Given the description of an element on the screen output the (x, y) to click on. 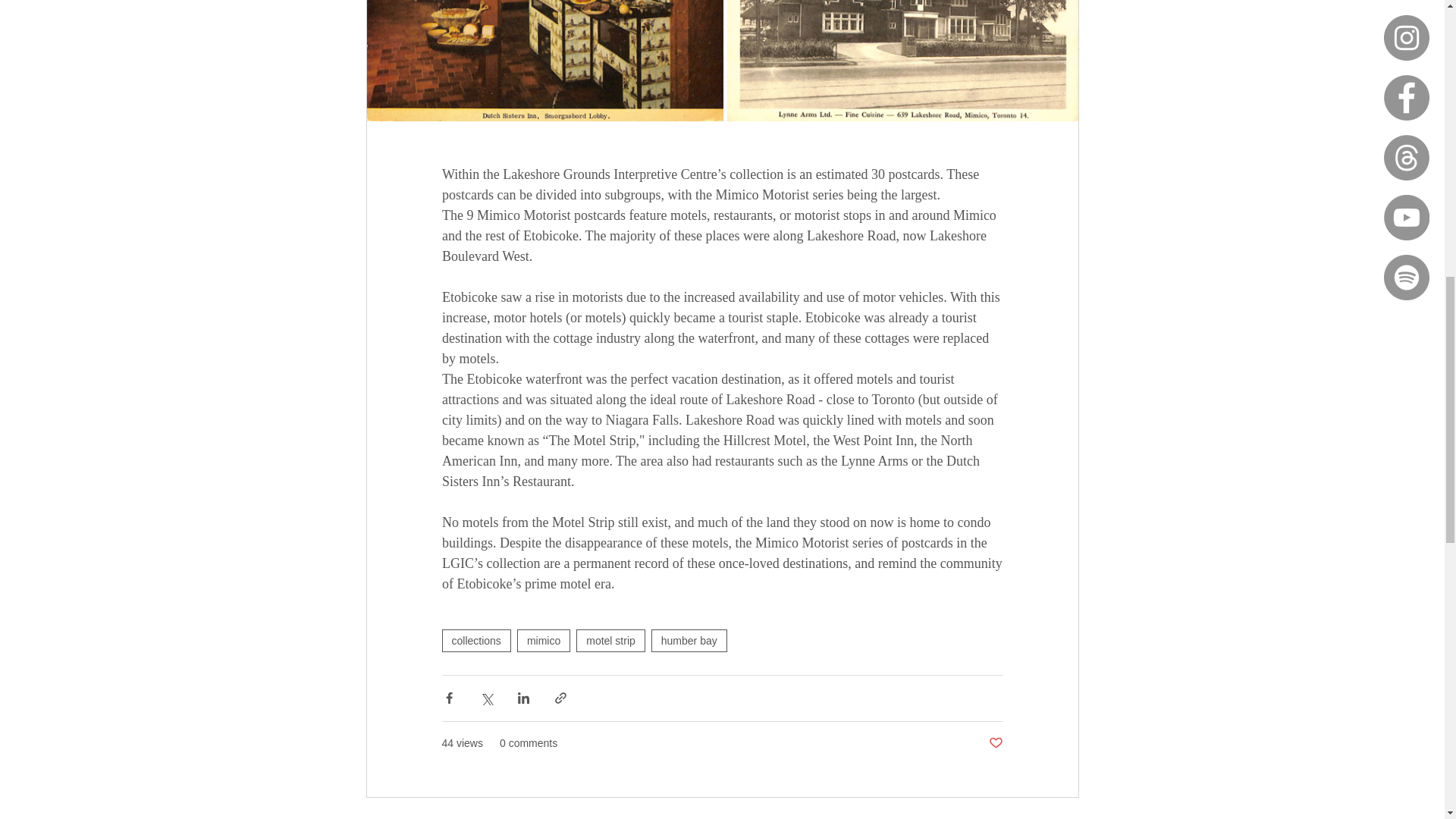
motel strip (610, 640)
collections (476, 640)
mimico (543, 640)
humber bay (688, 640)
See All (1061, 816)
Post not marked as liked (995, 743)
